Given the description of an element on the screen output the (x, y) to click on. 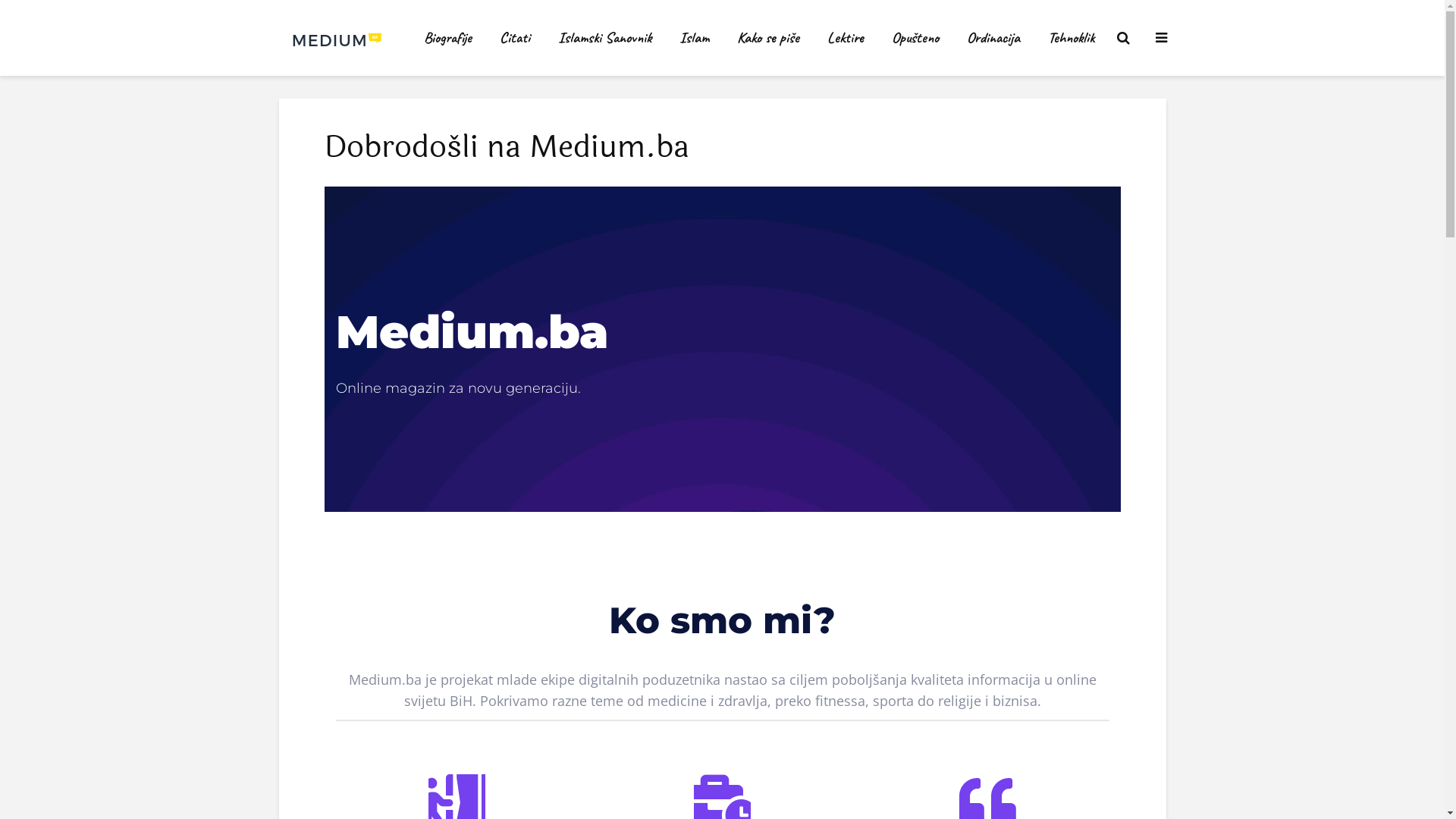
Islamski Sanovnik Element type: text (604, 37)
Ordinacija Element type: text (993, 37)
Lektire Element type: text (845, 37)
Islam Element type: text (693, 37)
Biografije Element type: text (447, 37)
Tehnoklik Element type: text (1069, 37)
Citati Element type: text (514, 37)
